Given the description of an element on the screen output the (x, y) to click on. 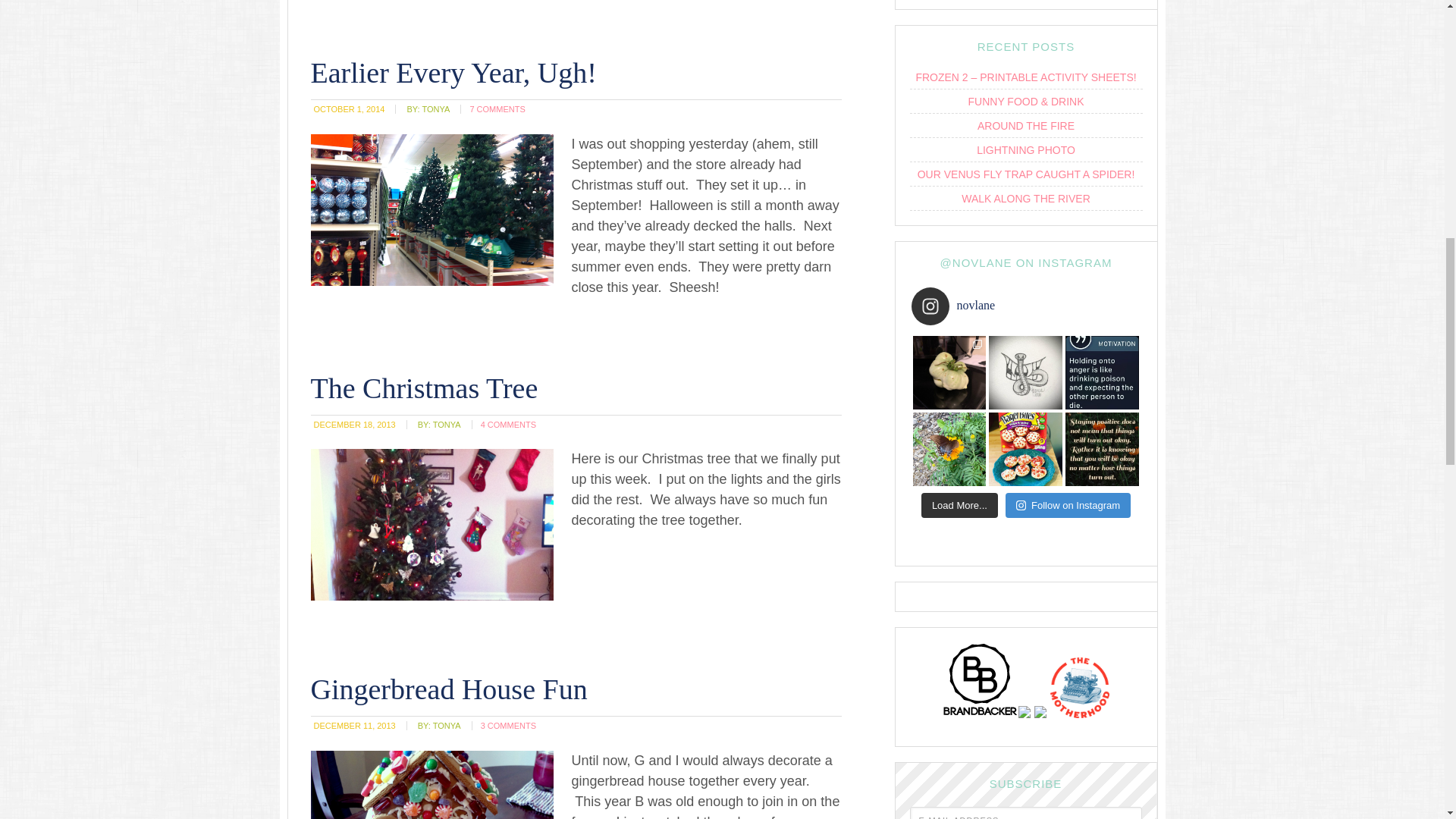
4 COMMENTS (507, 424)
Part of The Motherhood (1079, 720)
7 COMMENTS (496, 108)
3 COMMENTS (507, 725)
BrandBacker Member (979, 720)
Earlier Every Year, Ugh! (453, 72)
The Christmas Tree (424, 387)
Gingerbread House Fun (449, 689)
